Given the description of an element on the screen output the (x, y) to click on. 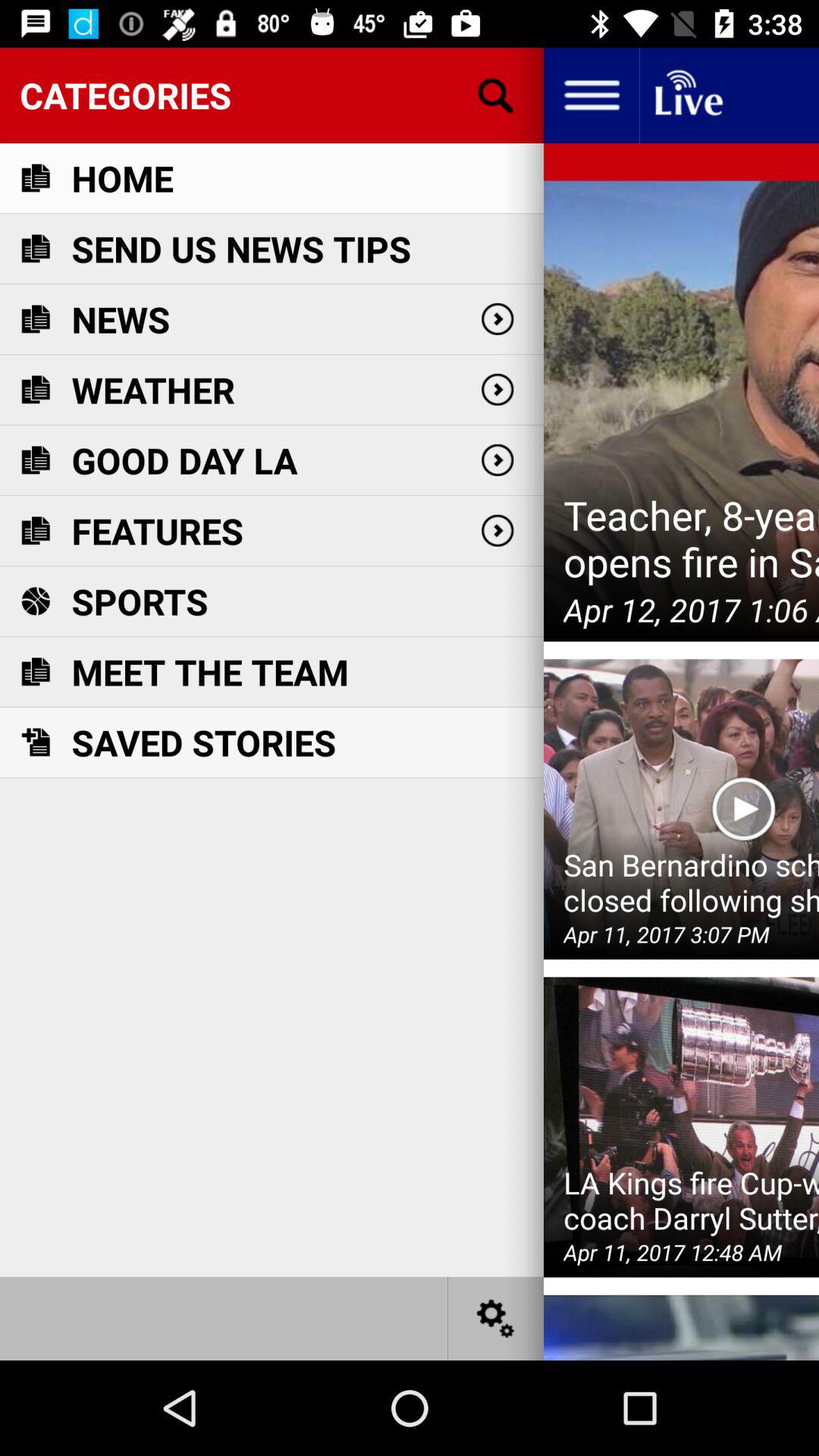
select the categories (271, 95)
